Given the description of an element on the screen output the (x, y) to click on. 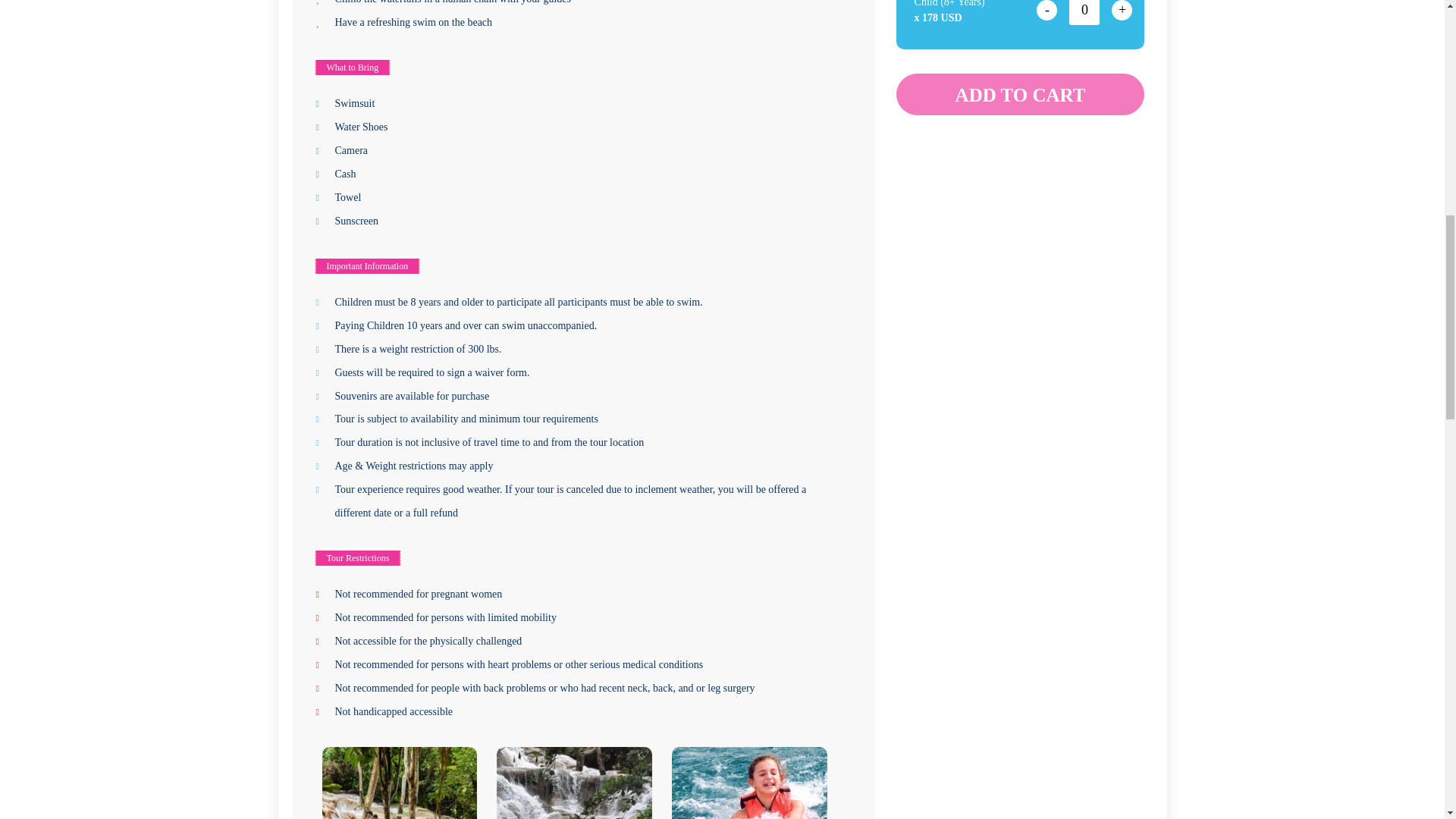
0 (1083, 12)
ADD TO CART (1020, 94)
ADD TO CART (1020, 94)
